Given the description of an element on the screen output the (x, y) to click on. 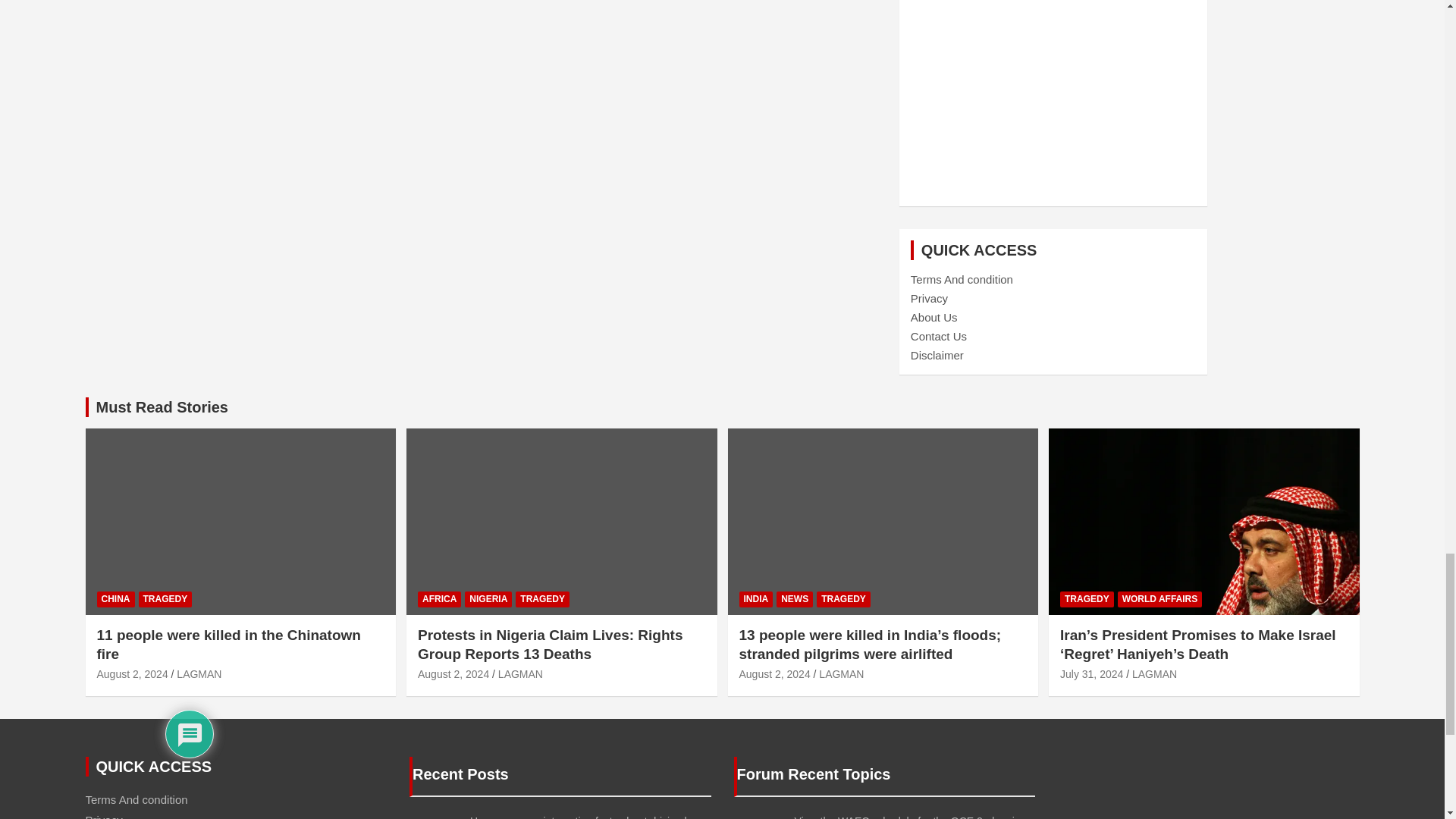
11 people were killed in the Chinatown fire (132, 674)
